Given the description of an element on the screen output the (x, y) to click on. 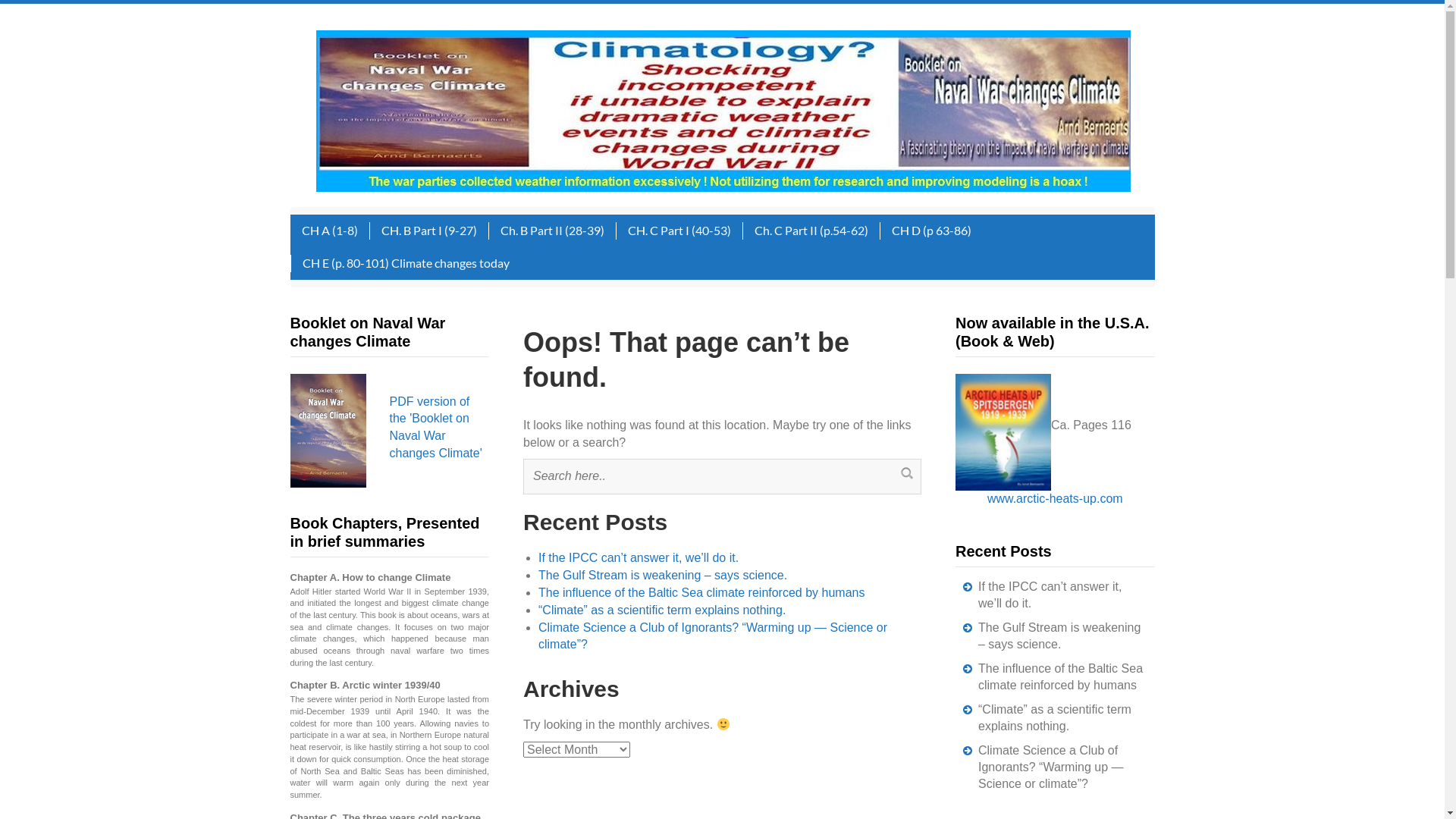
CH D (p 63-86) Element type: text (930, 230)
The influence of the Baltic Sea climate reinforced by humans Element type: text (701, 592)
CH. C Part I (40-53) Element type: text (678, 230)
The influence of the Baltic Sea climate reinforced by humans Element type: text (1060, 676)
PDF version of the 'Booklet on Naval War changes Climate' Element type: text (439, 426)
www.arctic-heats-up.com Element type: text (1055, 498)
Ch. C Part II (p.54-62) Element type: text (809, 230)
Ch. B Part II (28-39) Element type: text (551, 230)
CH E (p. 80-101) Climate changes today Element type: text (404, 263)
Naval War changes Climate Element type: hover (723, 109)
CH. B Part I (9-27) Element type: text (427, 230)
CH A (1-8) Element type: text (328, 230)
